Given the description of an element on the screen output the (x, y) to click on. 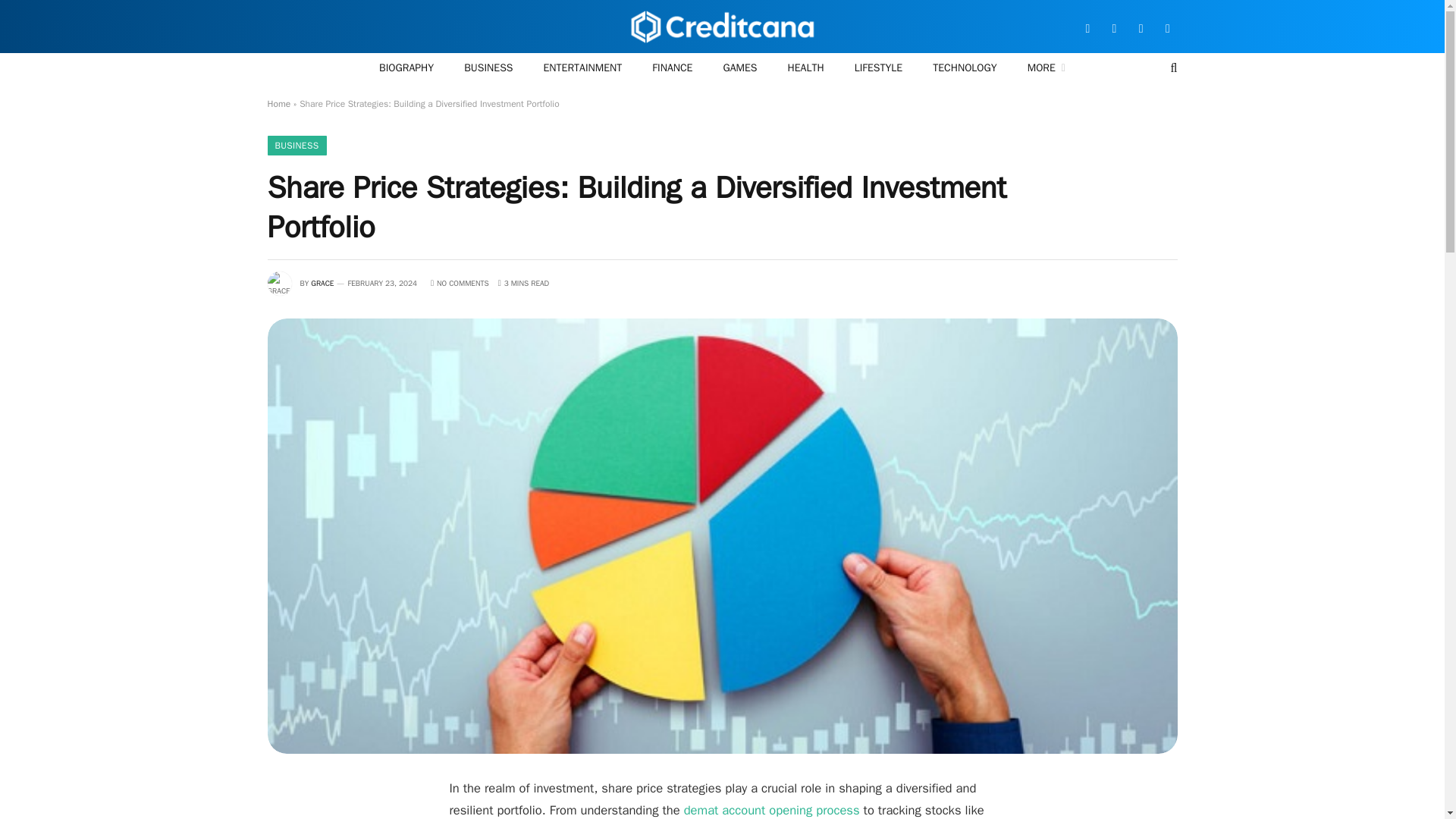
GAMES (739, 68)
NO COMMENTS (459, 283)
BUSINESS (487, 68)
Posts by Grace (322, 283)
MORE (1045, 68)
Home (277, 103)
LIFESTYLE (879, 68)
BIOGRAPHY (406, 68)
demat account opening process (772, 810)
